Given the description of an element on the screen output the (x, y) to click on. 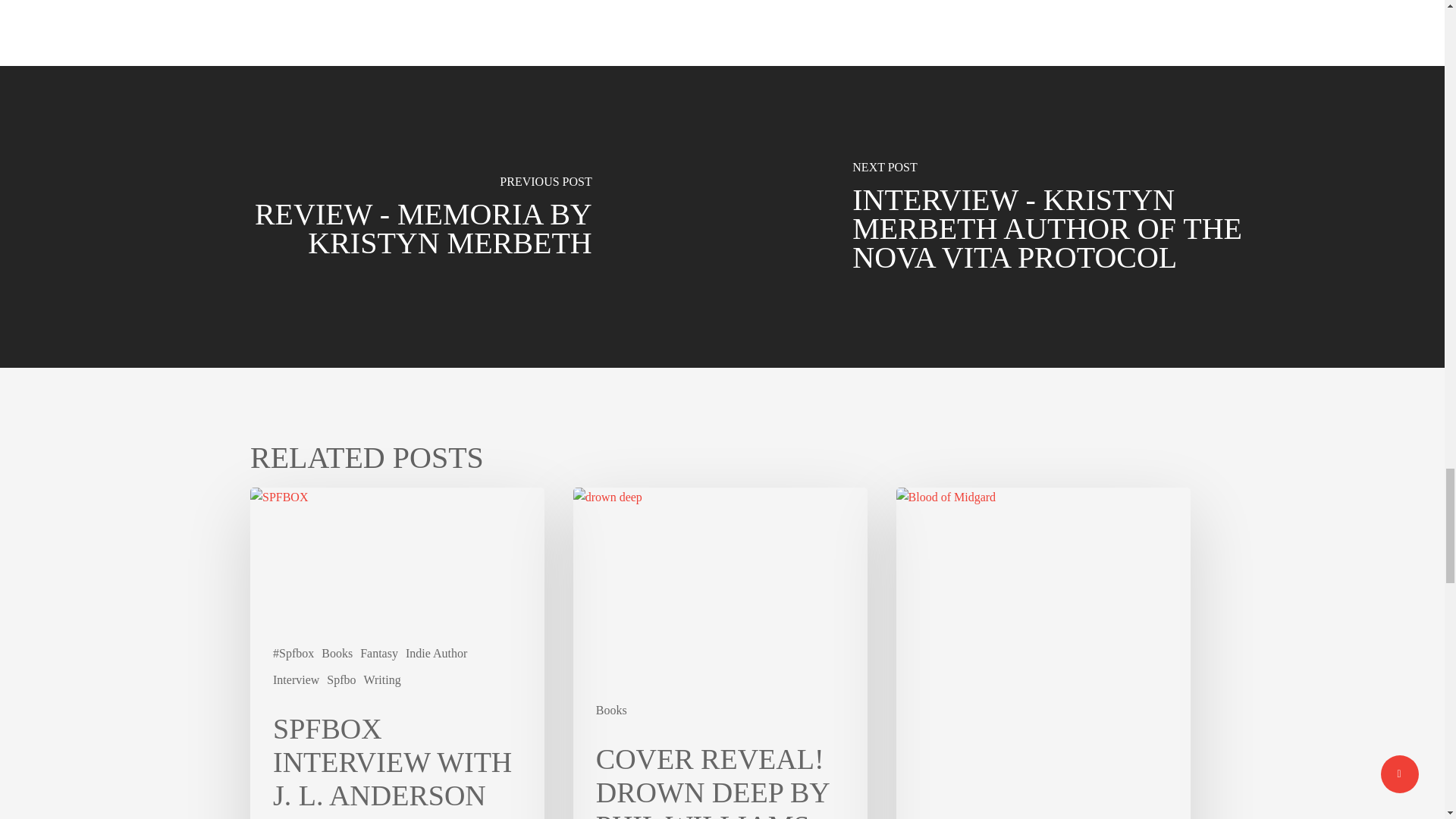
Interview (295, 679)
Books (336, 653)
Writing (382, 679)
Indie Author (436, 653)
Spfbo (340, 679)
Fantasy (378, 653)
